Given the description of an element on the screen output the (x, y) to click on. 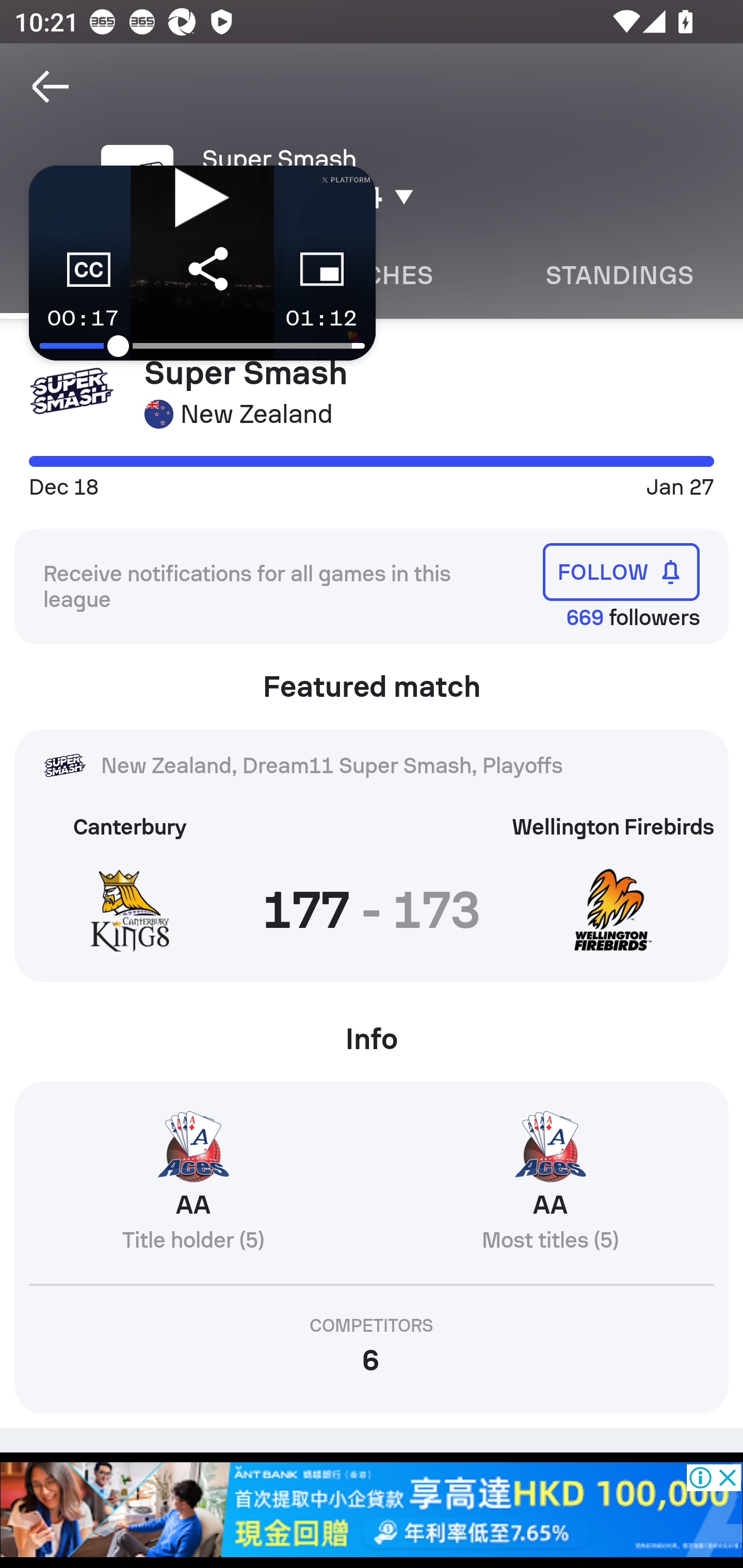
Navigate up (50, 86)
Standings STANDINGS (619, 275)
FOLLOW (621, 571)
AA Title holder (5) (192, 1190)
AA Most titles (5) (549, 1190)
